Given the description of an element on the screen output the (x, y) to click on. 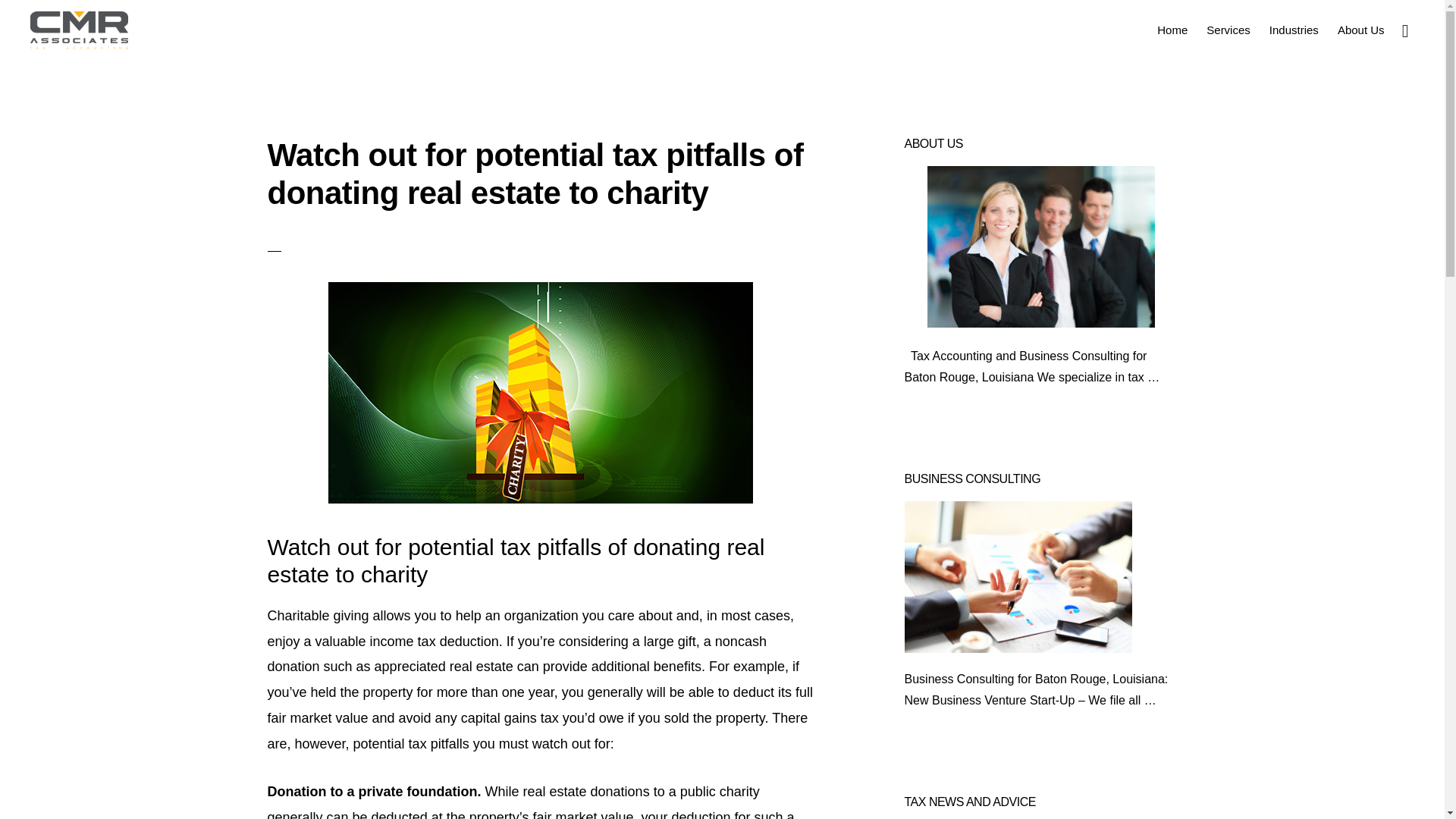
Industries (1294, 29)
Services (1227, 29)
Home (1172, 29)
About Us (1360, 29)
